Given the description of an element on the screen output the (x, y) to click on. 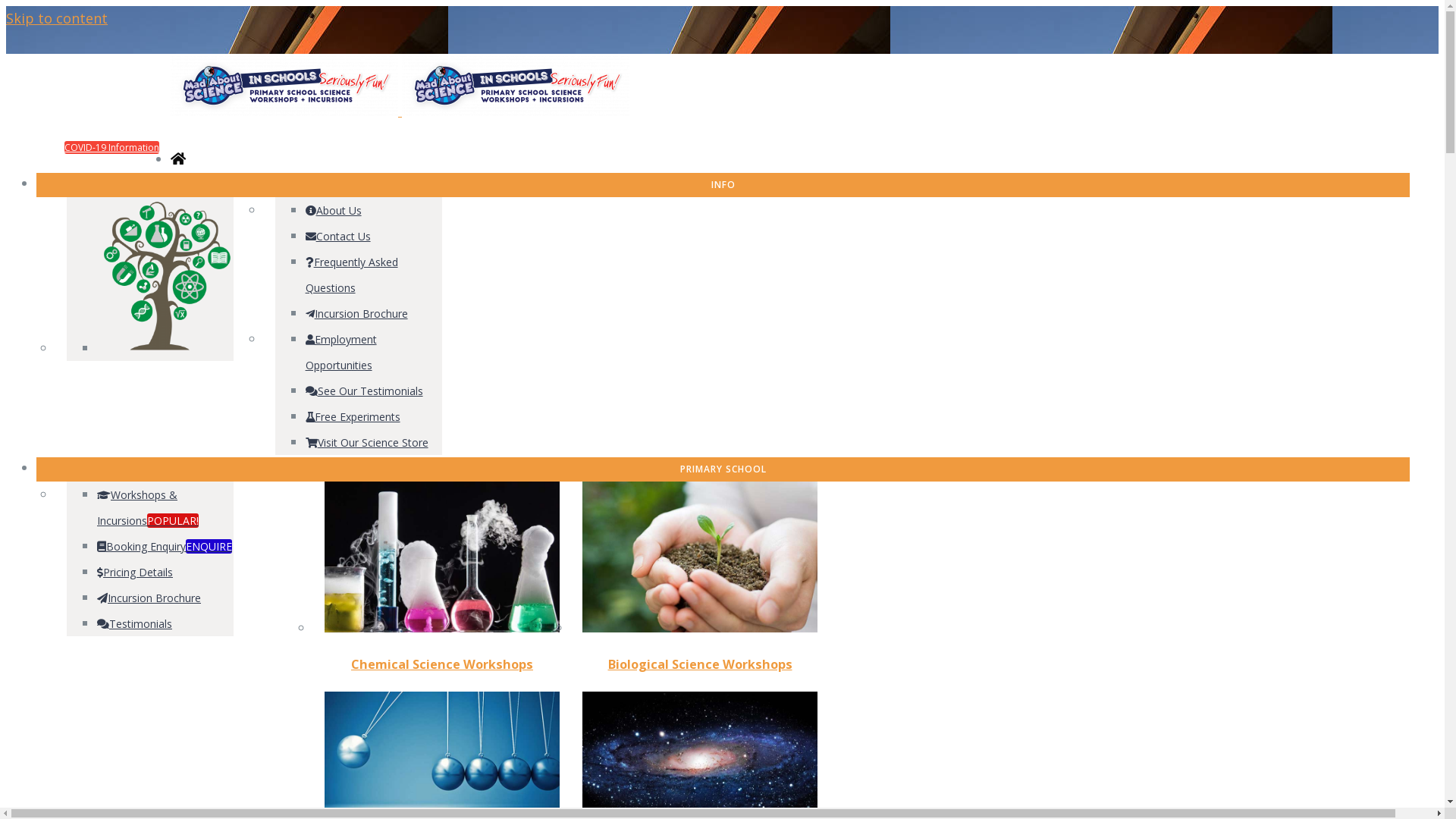
Testimonials Element type: text (134, 623)
Incursion Brochure Element type: text (148, 597)
Employment Opportunities Element type: text (340, 352)
See Our Testimonials Element type: text (364, 390)
linkedin Element type: text (1313, 64)
Booking EnquiryENQUIRE Element type: text (164, 546)
About Us Element type: text (333, 210)
Contact Us Element type: text (337, 236)
Incursion Brochure Element type: text (356, 313)
Free Experiments Element type: text (352, 416)
facebook Element type: text (1185, 64)
1300 302 441 Element type: text (91, 74)
Skip to content Element type: text (56, 18)
PRIMARY SCHOOL Element type: text (722, 468)
>COVID-19 Information Element type: text (109, 147)
instagram Element type: text (1385, 64)
Pricing Details Element type: text (134, 572)
Visit Our Science Store Element type: text (366, 442)
Chemical Science Workshops Element type: text (442, 663)
About Us Element type: text (82, 122)
INFO Element type: text (722, 183)
Frequently Asked Questions Element type: text (351, 274)
Contact Us Element type: text (87, 98)
twitter Element type: text (1252, 64)
Biological Science Workshops Element type: text (700, 663)
Workshops & IncursionsPOPULAR! Element type: text (147, 507)
